Given the description of an element on the screen output the (x, y) to click on. 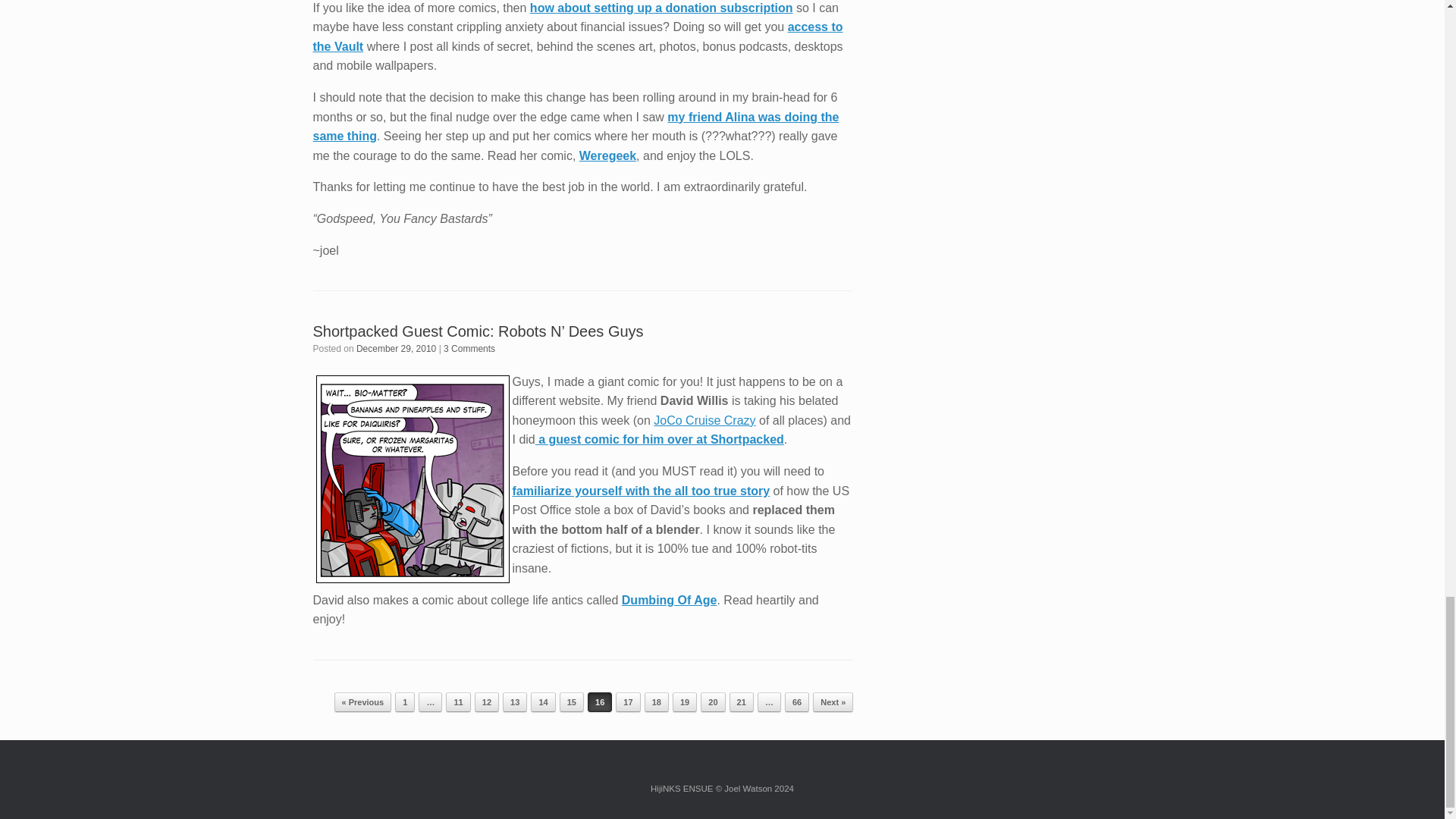
how about setting up a donation subscription (661, 7)
access to the Vault (578, 36)
my friend Alina was doing the same thing (575, 126)
